Given the description of an element on the screen output the (x, y) to click on. 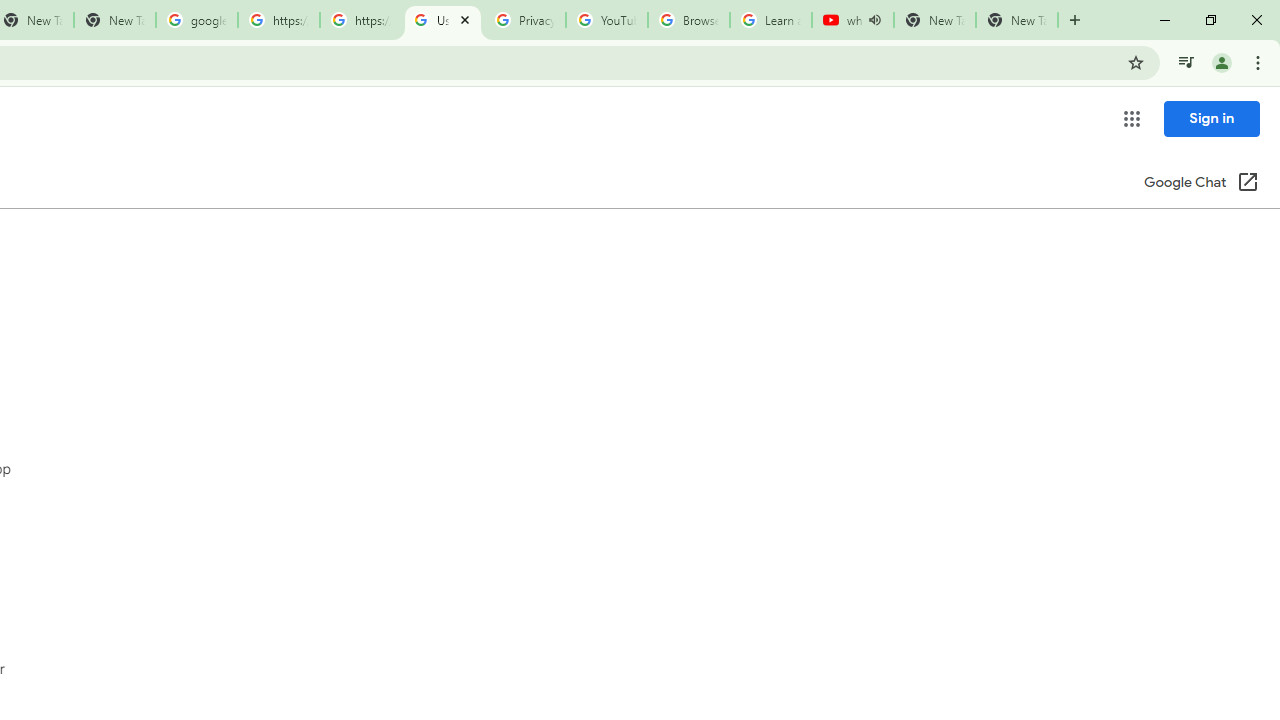
YouTube (606, 20)
New Tab (1016, 20)
Mute tab (874, 20)
Google Chat (Open in a new window) (1201, 183)
